Given the description of an element on the screen output the (x, y) to click on. 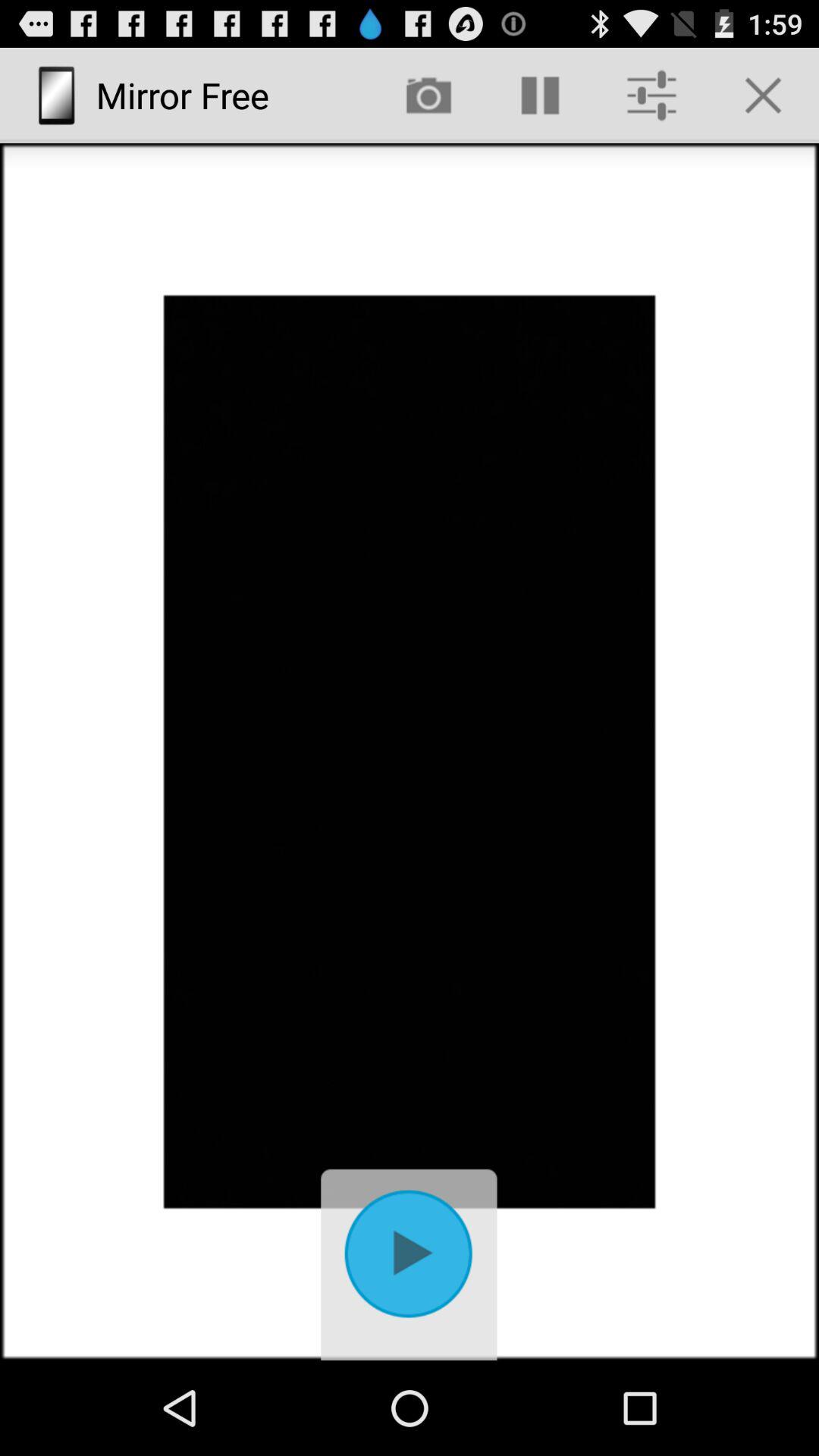
turn off the app next to mirror free item (428, 95)
